Given the description of an element on the screen output the (x, y) to click on. 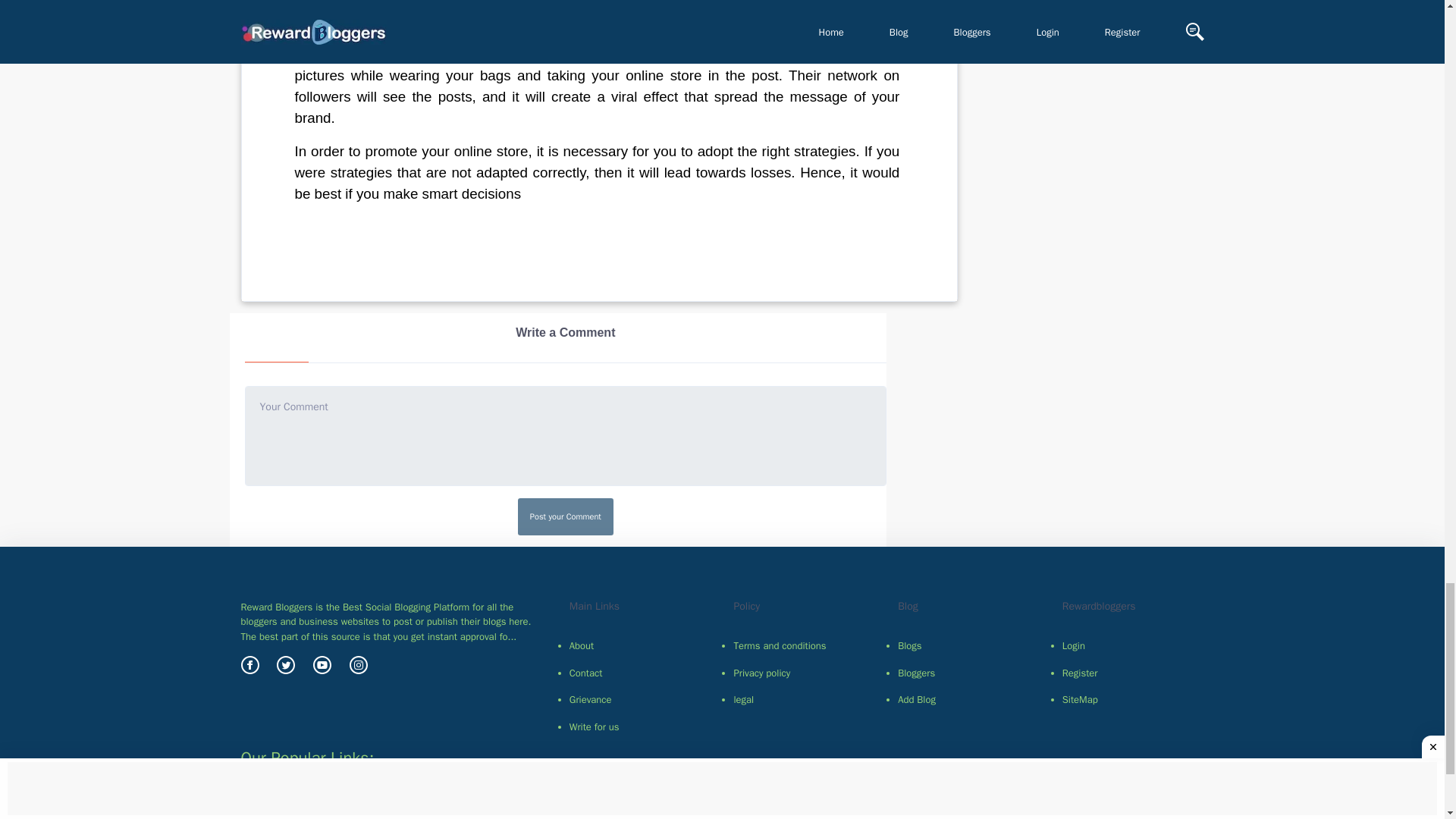
Free Guest Posting Site (1087, 800)
Post your Comment (565, 516)
Fashion Guest Post (723, 800)
Guest Blog Posting WebSite (722, 806)
Technology Guest Post (392, 800)
Instant Approval Guest Post (381, 814)
Sports Guest Post (828, 800)
SEO Guest Post (498, 800)
Instant Approval Guest Post (951, 800)
Real Estate Guest Post (607, 800)
